Given the description of an element on the screen output the (x, y) to click on. 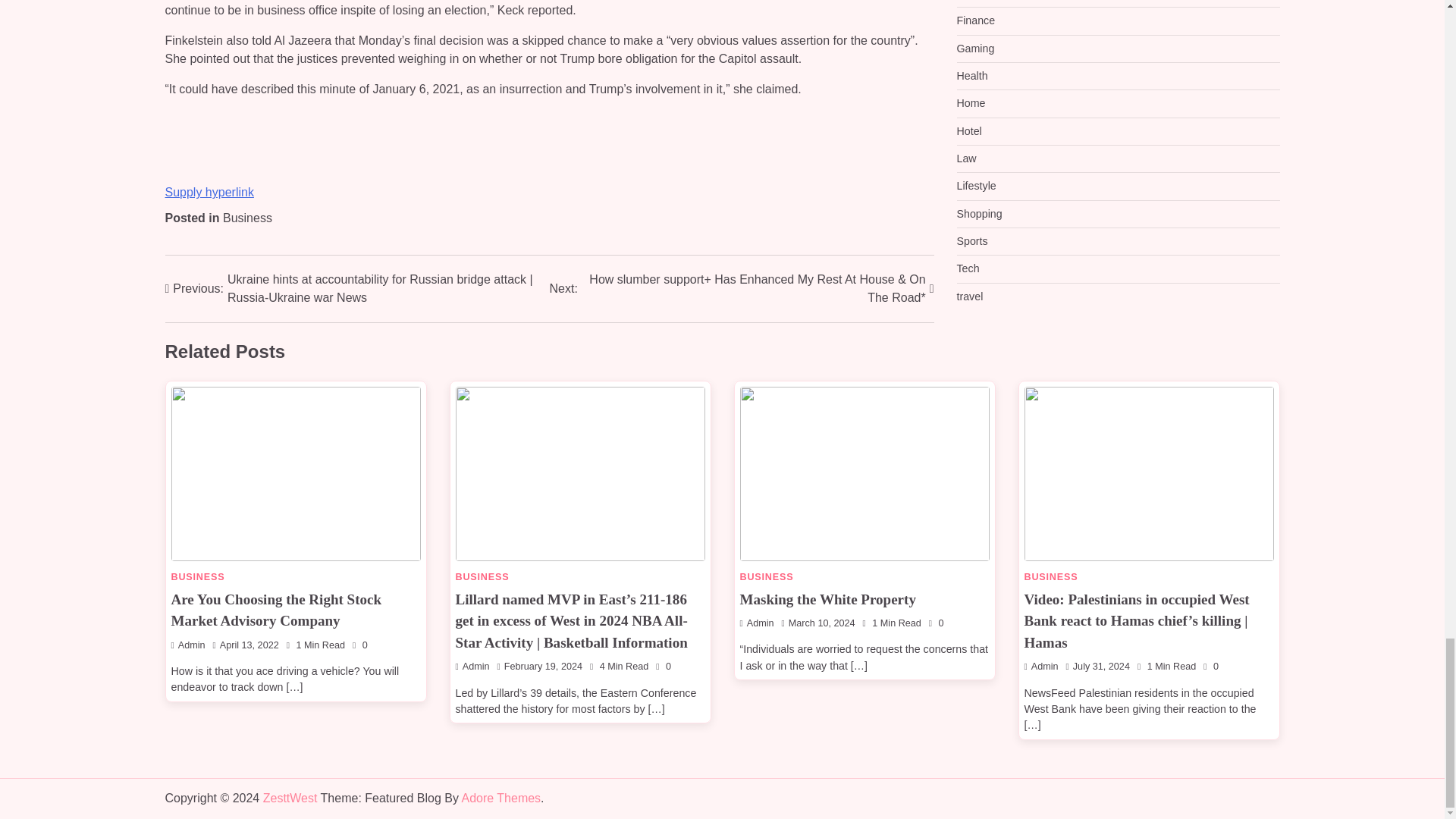
Supply hyperlink (209, 192)
Business (247, 217)
